Given the description of an element on the screen output the (x, y) to click on. 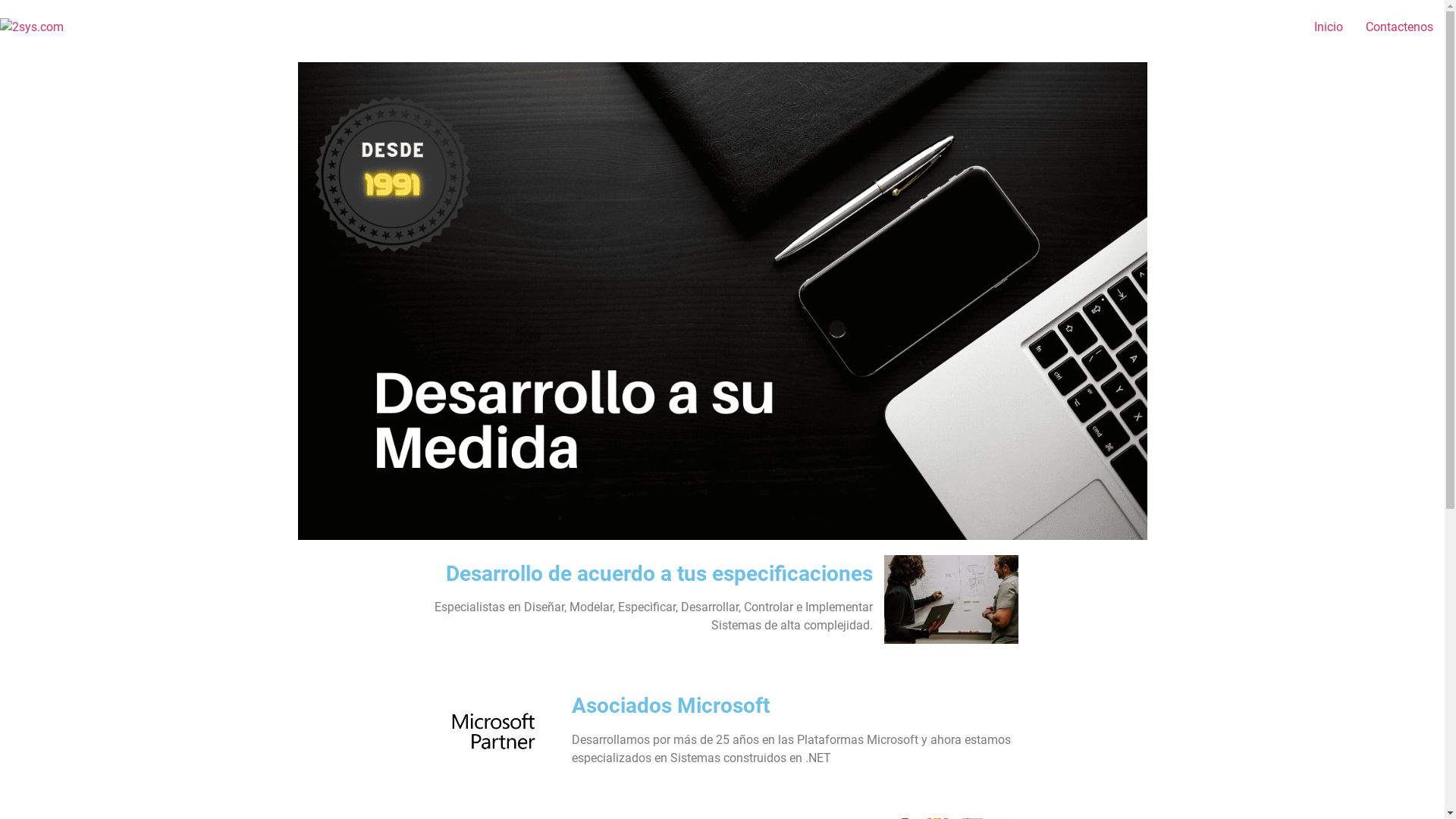
Inicio Element type: text (722, 78)
Contactenos Element type: text (1399, 27)
Inicio Element type: text (1328, 27)
